Given the description of an element on the screen output the (x, y) to click on. 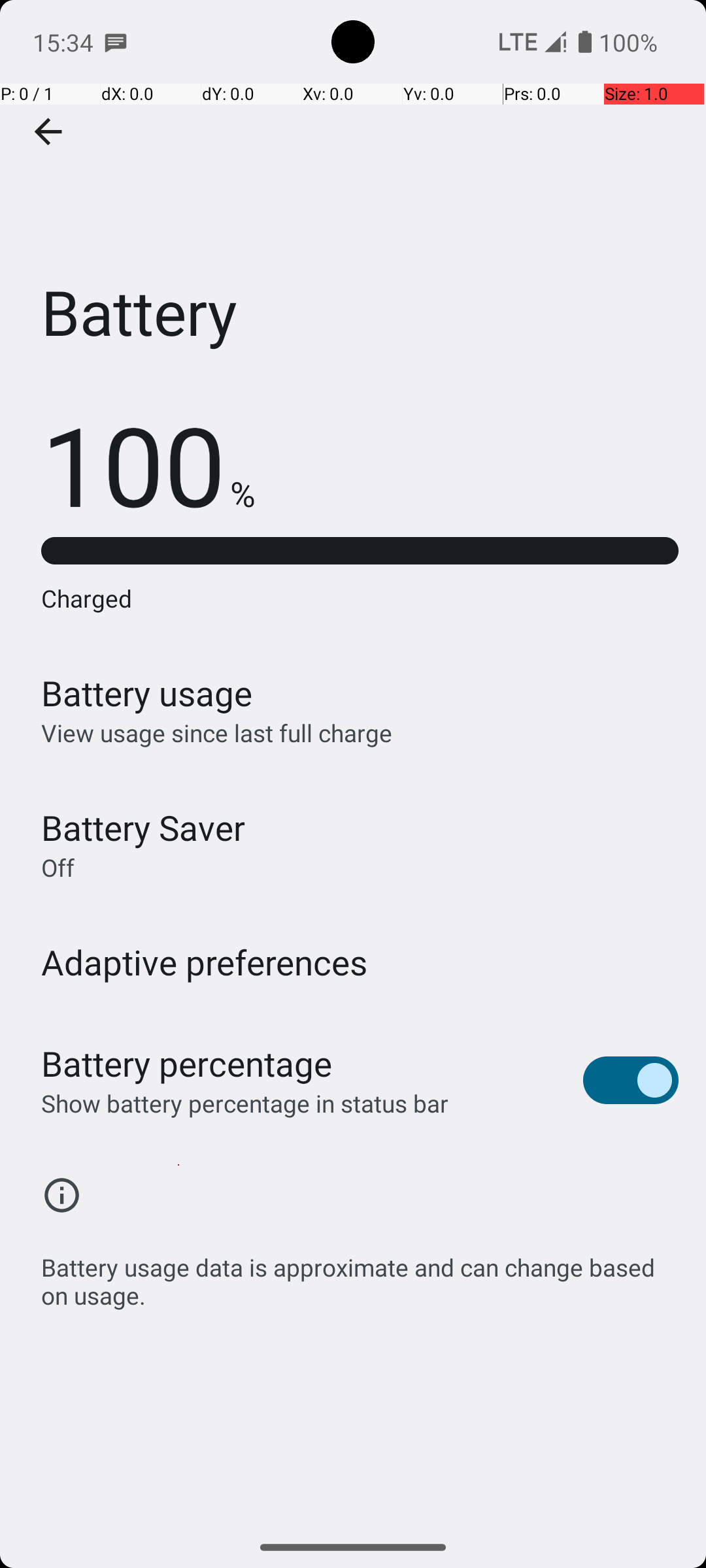
SMS Messenger notification: Juan Alves Element type: android.widget.ImageView (115, 41)
